Given the description of an element on the screen output the (x, y) to click on. 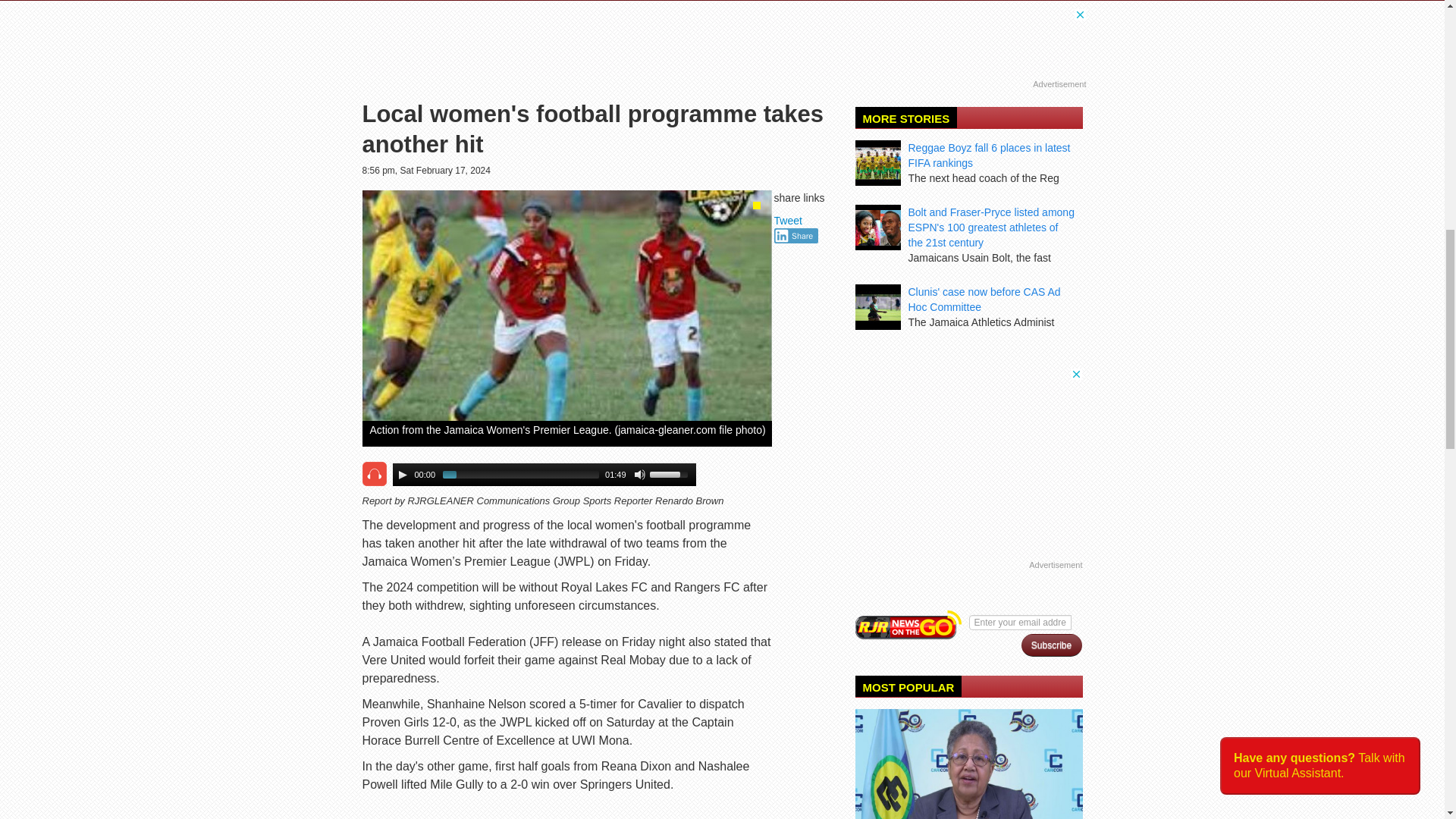
Mute Toggle (639, 474)
Clunis' case now before CAS Ad Hoc Committee (984, 298)
Share (796, 235)
3rd party ad content (969, 462)
Reggae Boyz fall 6 places in latest FIFA rankings (989, 154)
Subscribe (1050, 644)
Tweet (788, 220)
3rd party ad content (725, 42)
Subscribe (1050, 644)
